Given the description of an element on the screen output the (x, y) to click on. 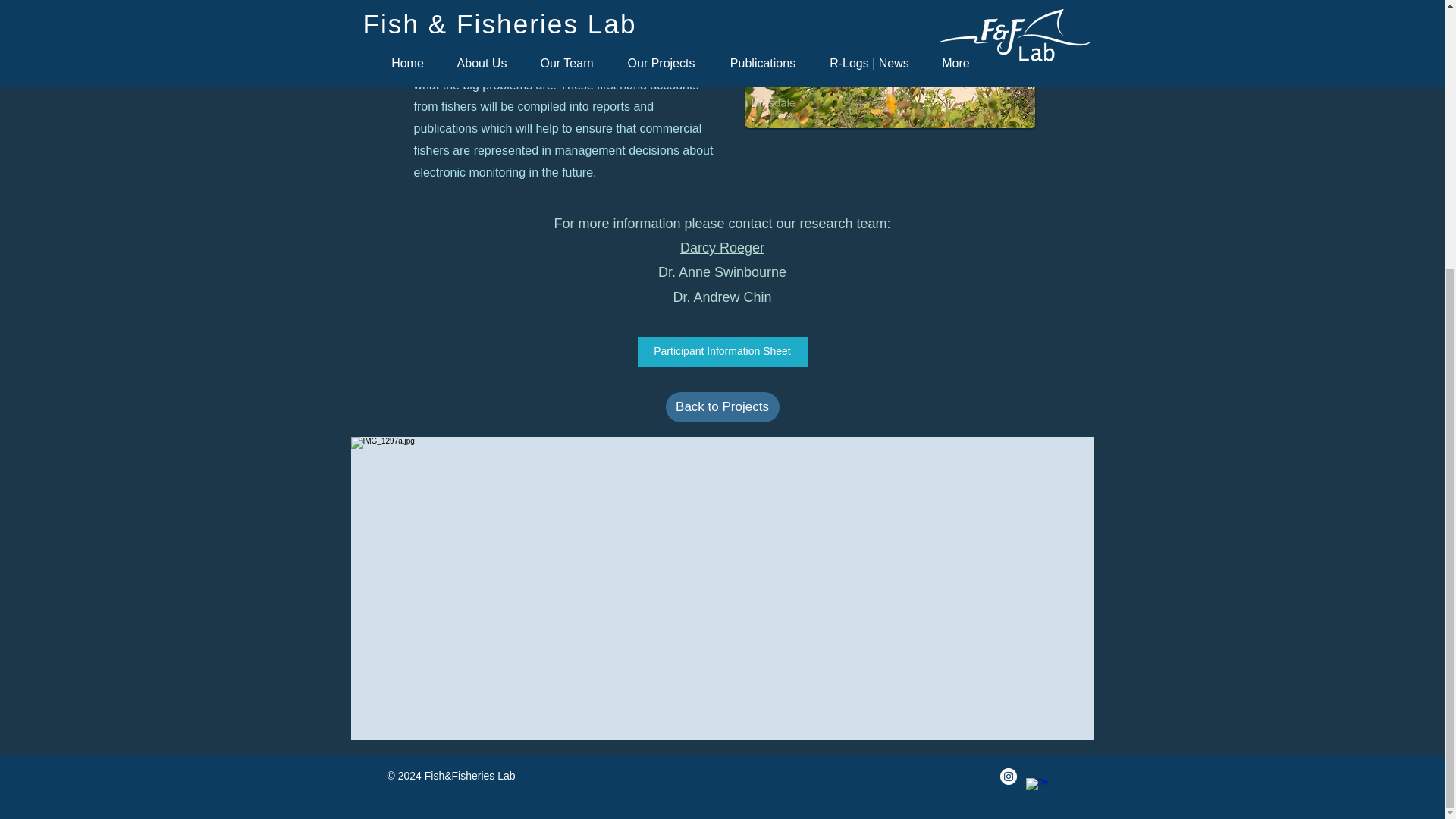
Dr. Andrew Chin (721, 296)
Participant Information Sheet (721, 351)
Back to Projects (721, 407)
Dr. Anne Swinbourne (722, 272)
Darcy Roeger (721, 247)
